Given the description of an element on the screen output the (x, y) to click on. 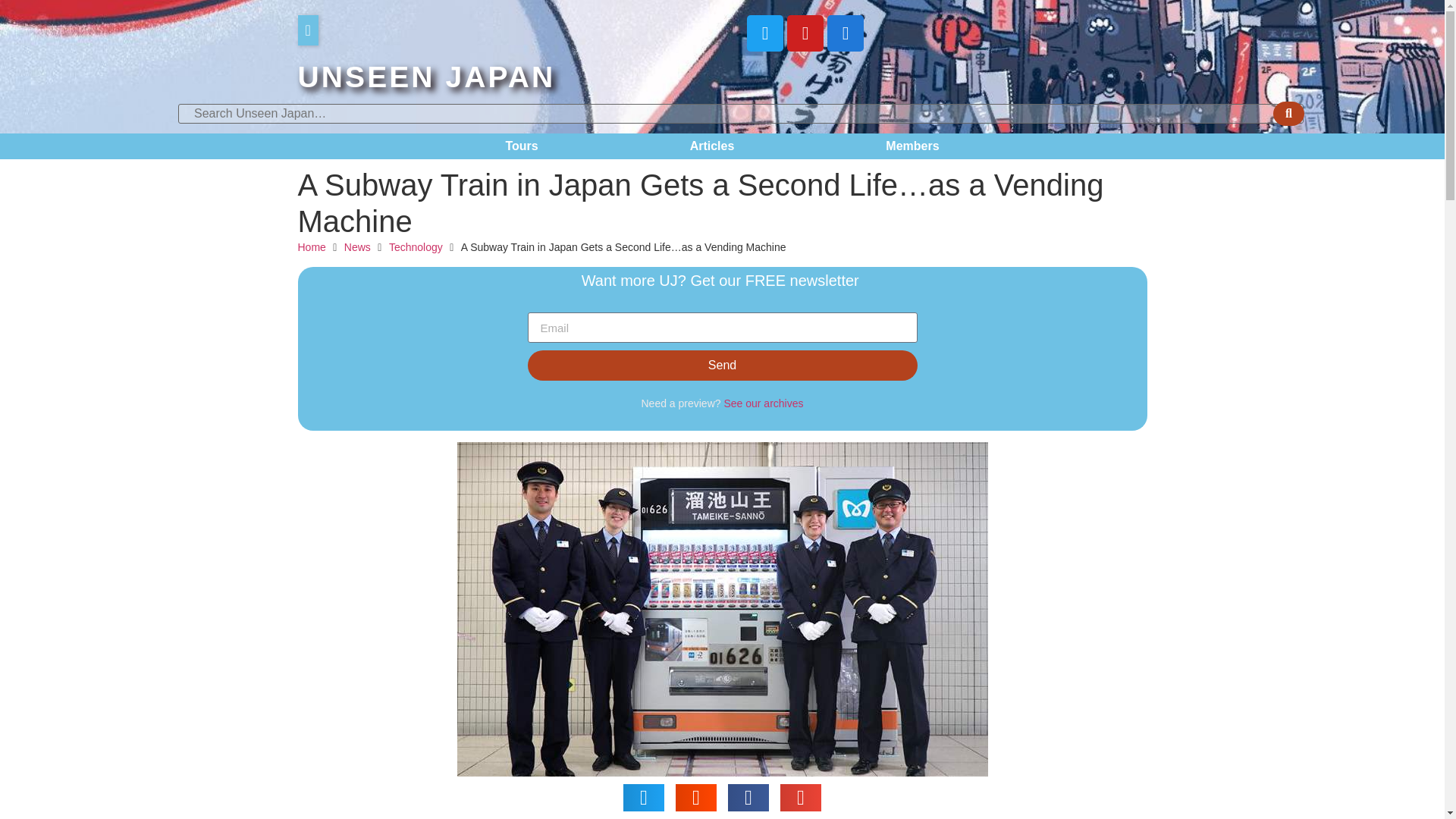
Members (911, 145)
Send (722, 365)
See our archives (763, 403)
Articles (712, 145)
News (357, 247)
Tours (521, 145)
Technology (415, 247)
UNSEEN JAPAN (425, 76)
Technology (415, 247)
News (357, 247)
Home (310, 247)
Home (310, 247)
